Given the description of an element on the screen output the (x, y) to click on. 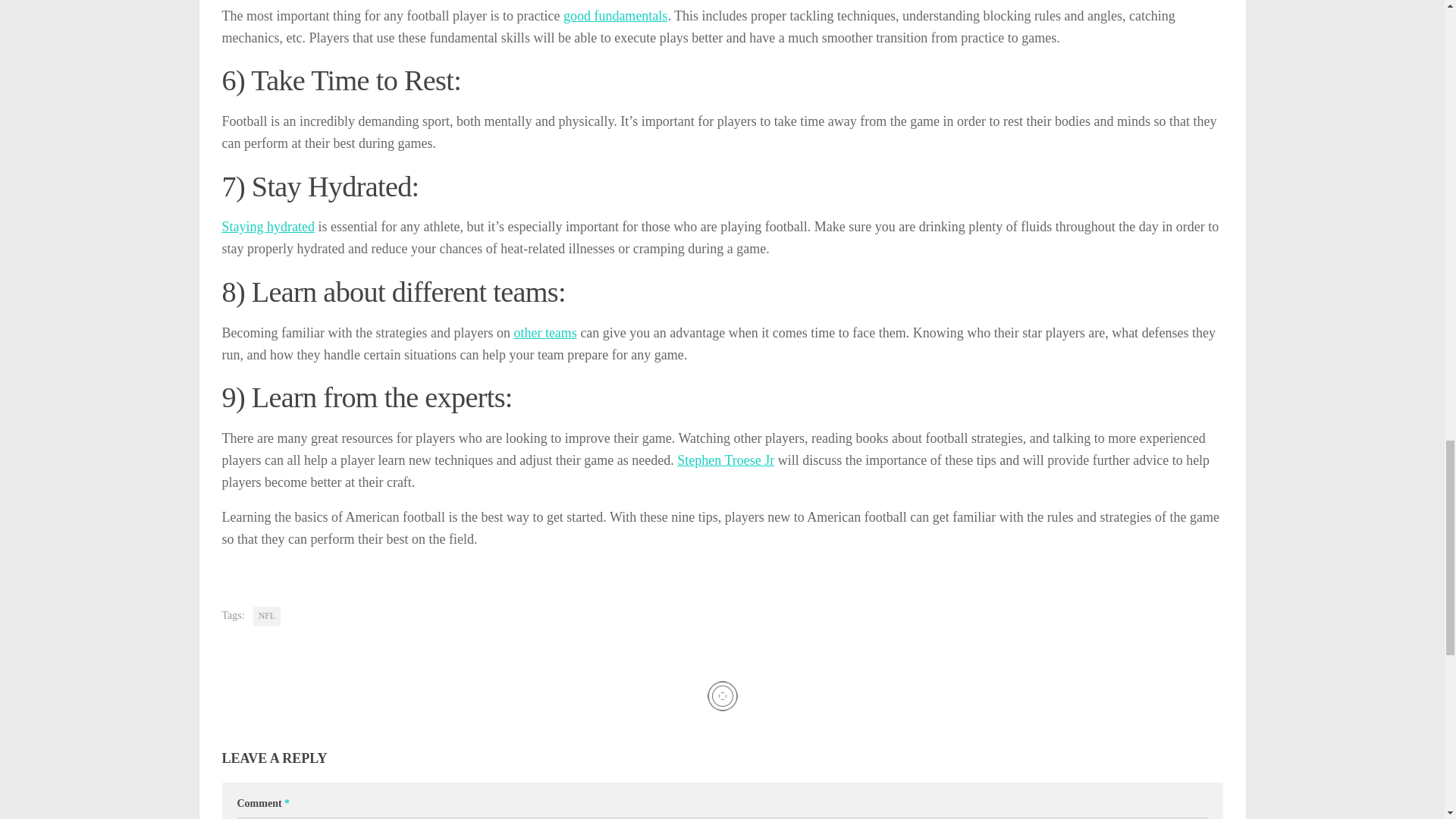
Staying hydrated (267, 226)
good fundamentals (614, 15)
NFL (267, 616)
Stephen Troese Jr (725, 459)
other teams (544, 332)
